Given the description of an element on the screen output the (x, y) to click on. 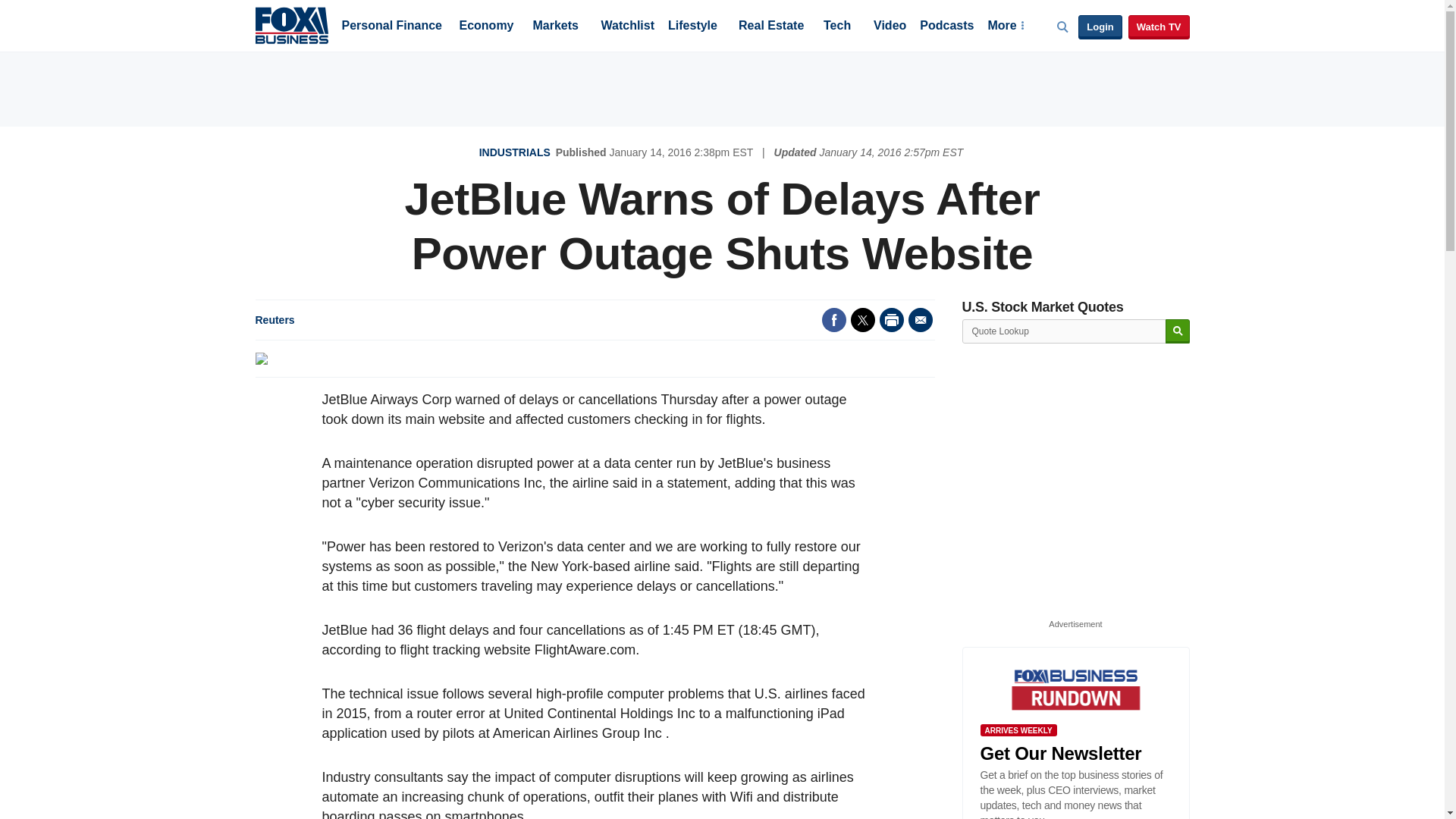
Markets (555, 27)
Fox Business (290, 24)
Real Estate (770, 27)
Watch TV (1158, 27)
Login (1099, 27)
Podcasts (947, 27)
More (1005, 27)
Economy (486, 27)
Personal Finance (391, 27)
Lifestyle (692, 27)
Video (889, 27)
Search (1176, 331)
Tech (837, 27)
Watchlist (626, 27)
Search (1176, 331)
